Given the description of an element on the screen output the (x, y) to click on. 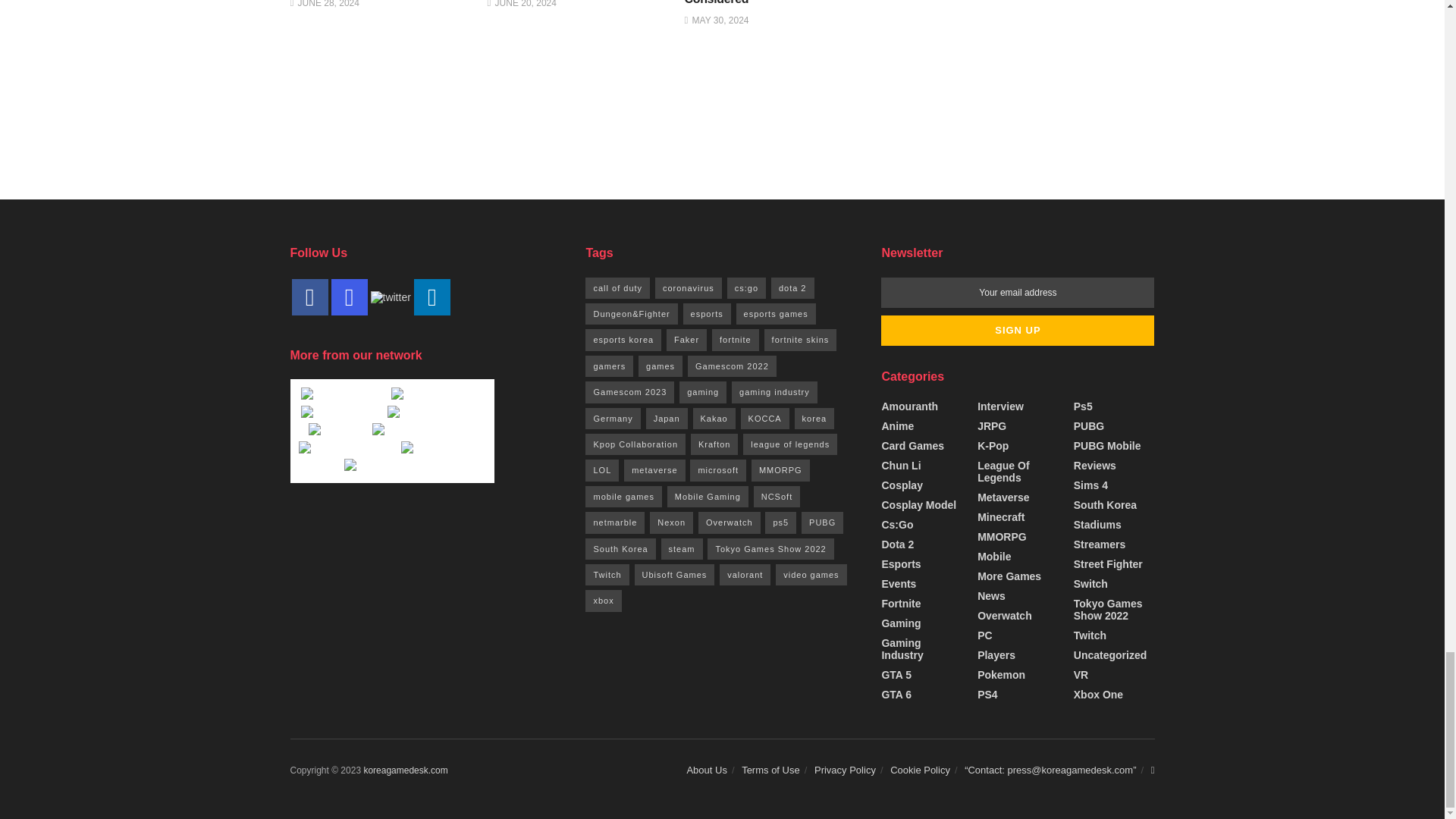
twitter (390, 295)
Sign up (1017, 330)
linkedin (431, 297)
twitter (389, 297)
instagram (348, 297)
facebook (309, 297)
